Given the description of an element on the screen output the (x, y) to click on. 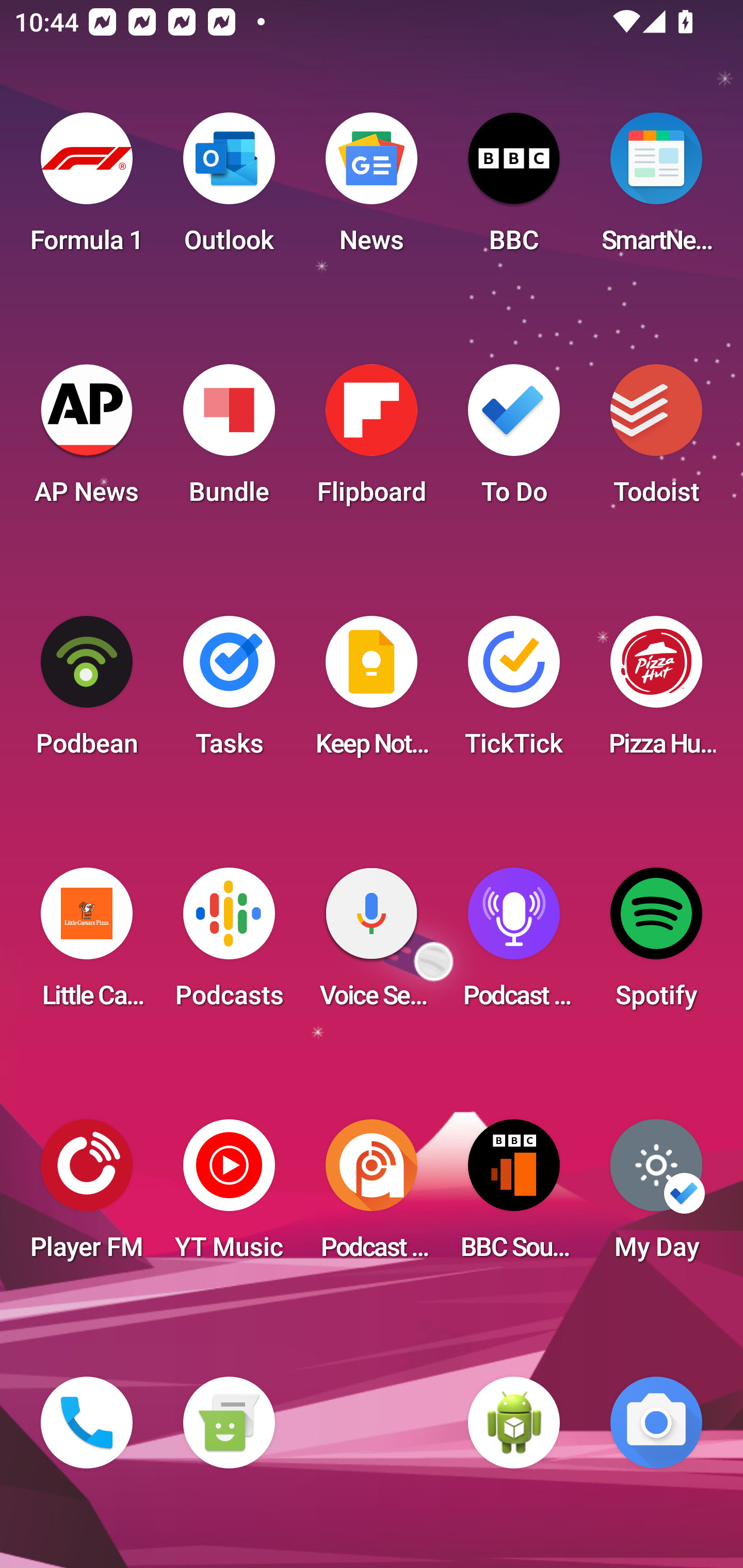
Formula 1 (86, 188)
Outlook (228, 188)
News (371, 188)
BBC (513, 188)
SmartNews (656, 188)
AP News (86, 440)
Bundle (228, 440)
Flipboard (371, 440)
To Do (513, 440)
Todoist (656, 440)
Podbean (86, 692)
Tasks (228, 692)
Keep Notes (371, 692)
TickTick (513, 692)
Pizza Hut HK & Macau (656, 692)
Little Caesars Pizza (86, 943)
Podcasts (228, 943)
Voice Search (371, 943)
Podcast Player (513, 943)
Spotify (656, 943)
Player FM (86, 1195)
YT Music (228, 1195)
Podcast Addict (371, 1195)
BBC Sounds (513, 1195)
My Day (656, 1195)
Phone (86, 1422)
Messaging (228, 1422)
WebView Browser Tester (513, 1422)
Camera (656, 1422)
